Given the description of an element on the screen output the (x, y) to click on. 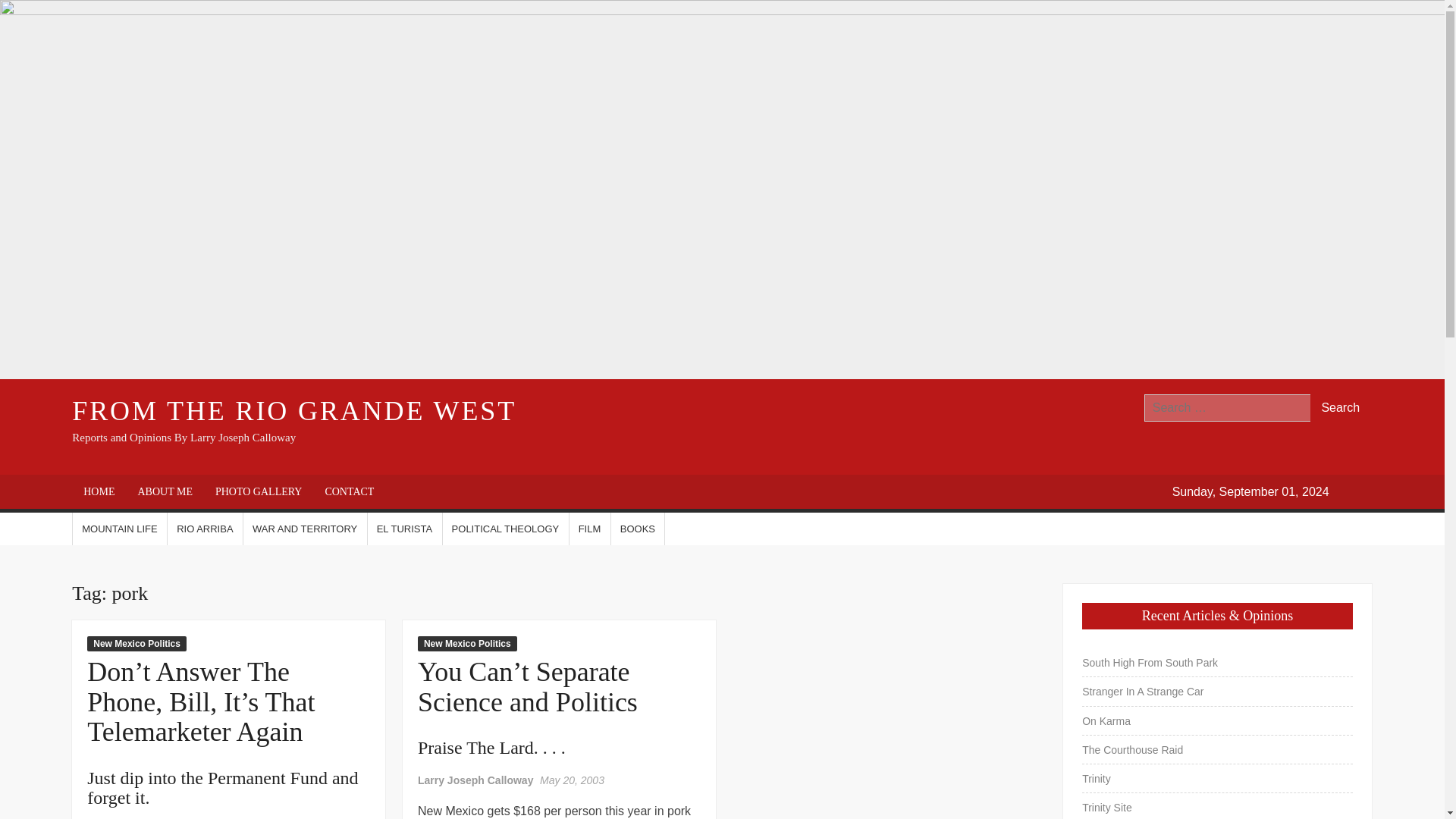
PHOTO GALLERY (258, 491)
FROM THE RIO GRANDE WEST (293, 410)
ABOUT ME (164, 491)
CONTACT (349, 491)
RIO ARRIBA (204, 528)
MOUNTAIN LIFE (118, 528)
Search (1340, 407)
BOOKS (637, 528)
FILM (589, 528)
POLITICAL THEOLOGY (505, 528)
